Given the description of an element on the screen output the (x, y) to click on. 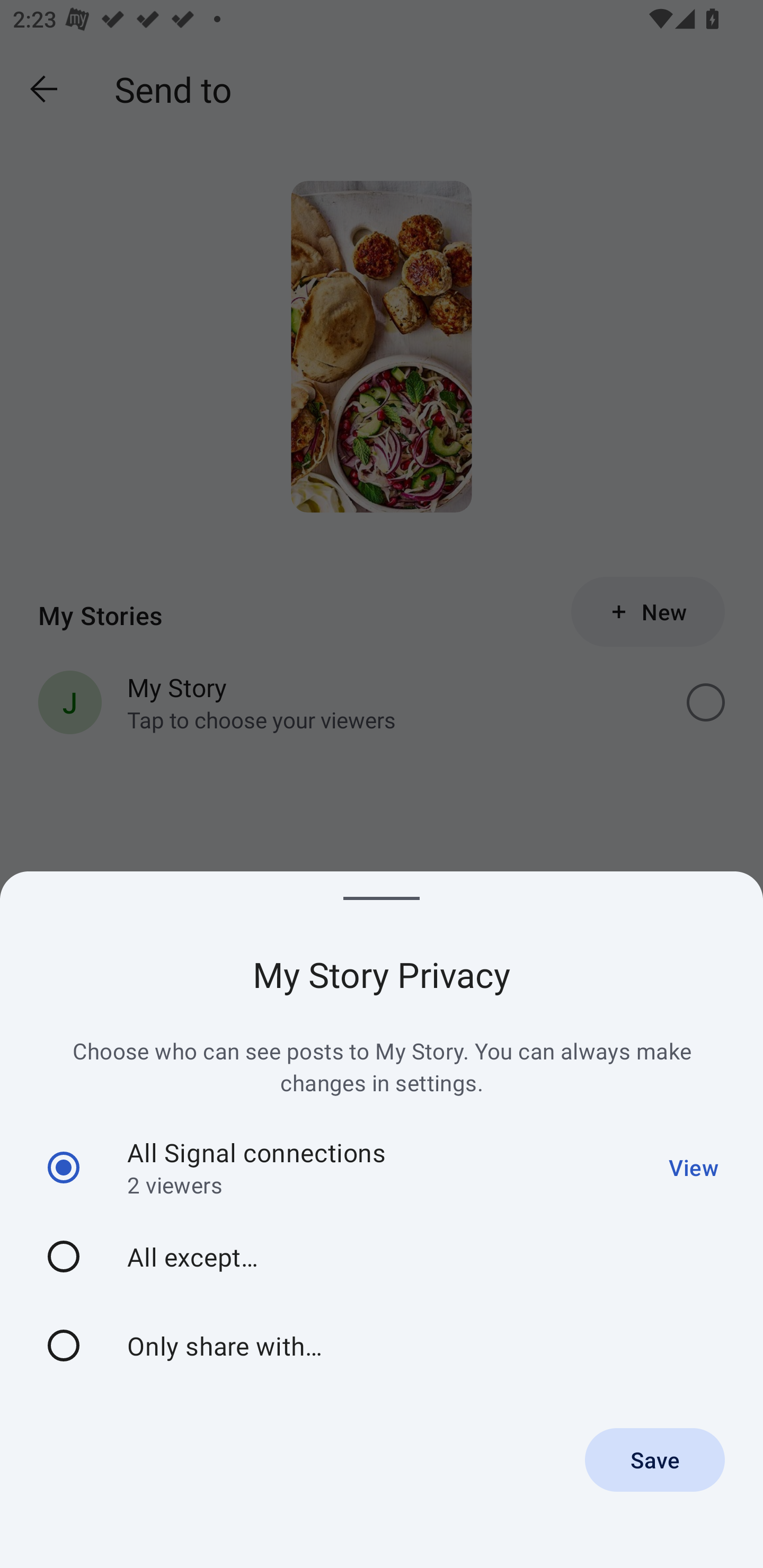
Save (654, 1459)
